Given the description of an element on the screen output the (x, y) to click on. 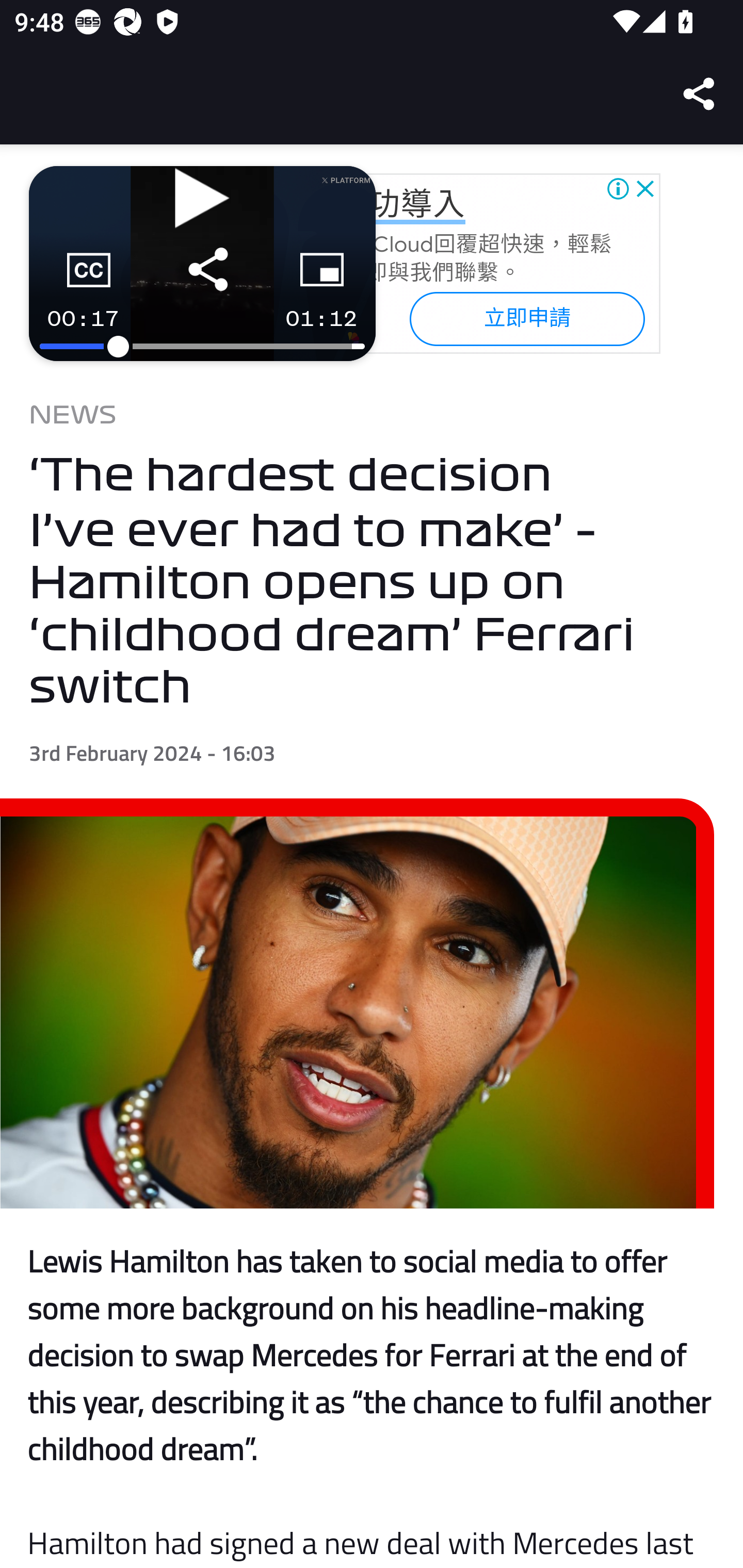
Share (699, 93)
立即申請 (526, 318)
